Given the description of an element on the screen output the (x, y) to click on. 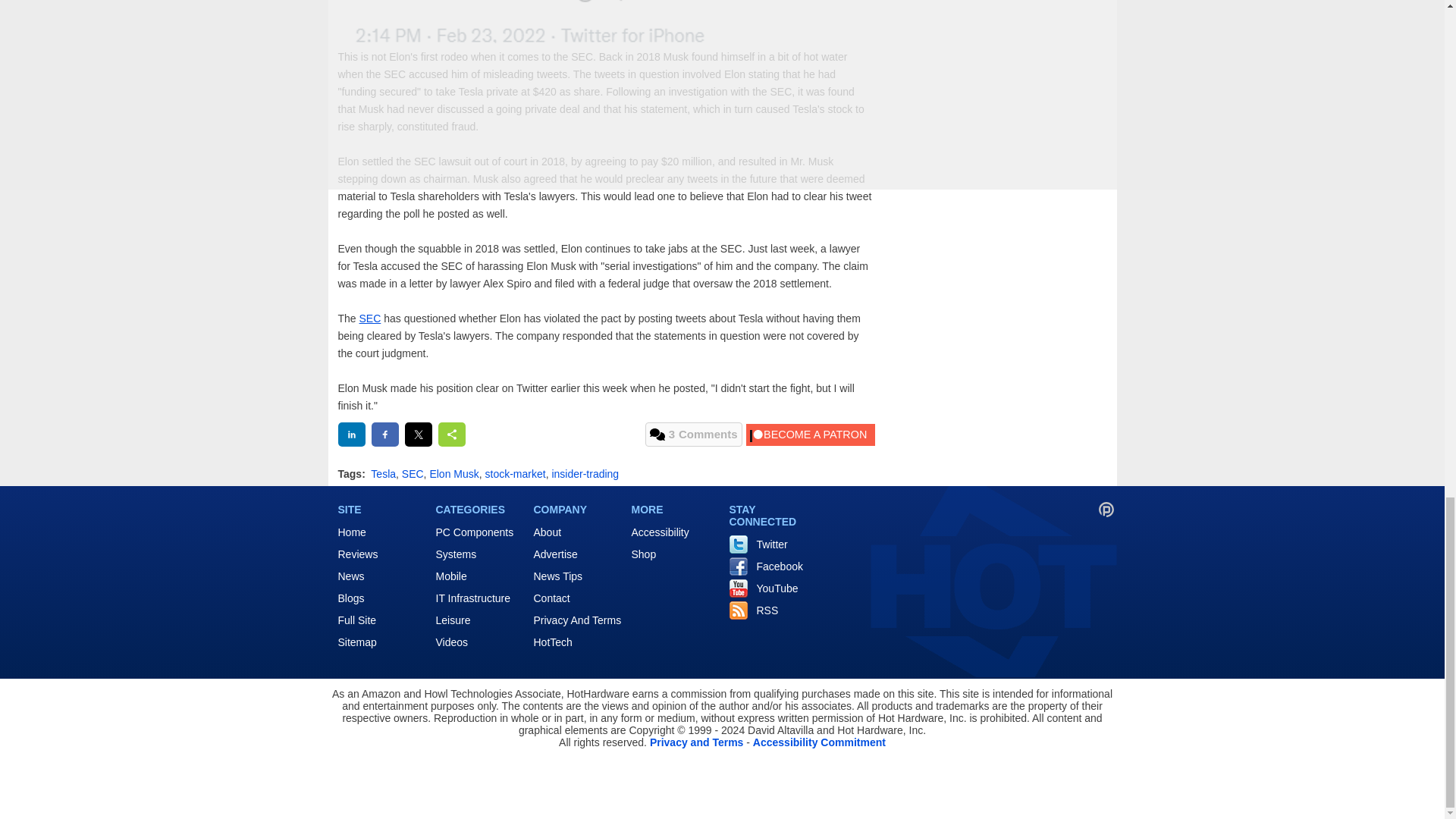
Comments (693, 434)
